Given the description of an element on the screen output the (x, y) to click on. 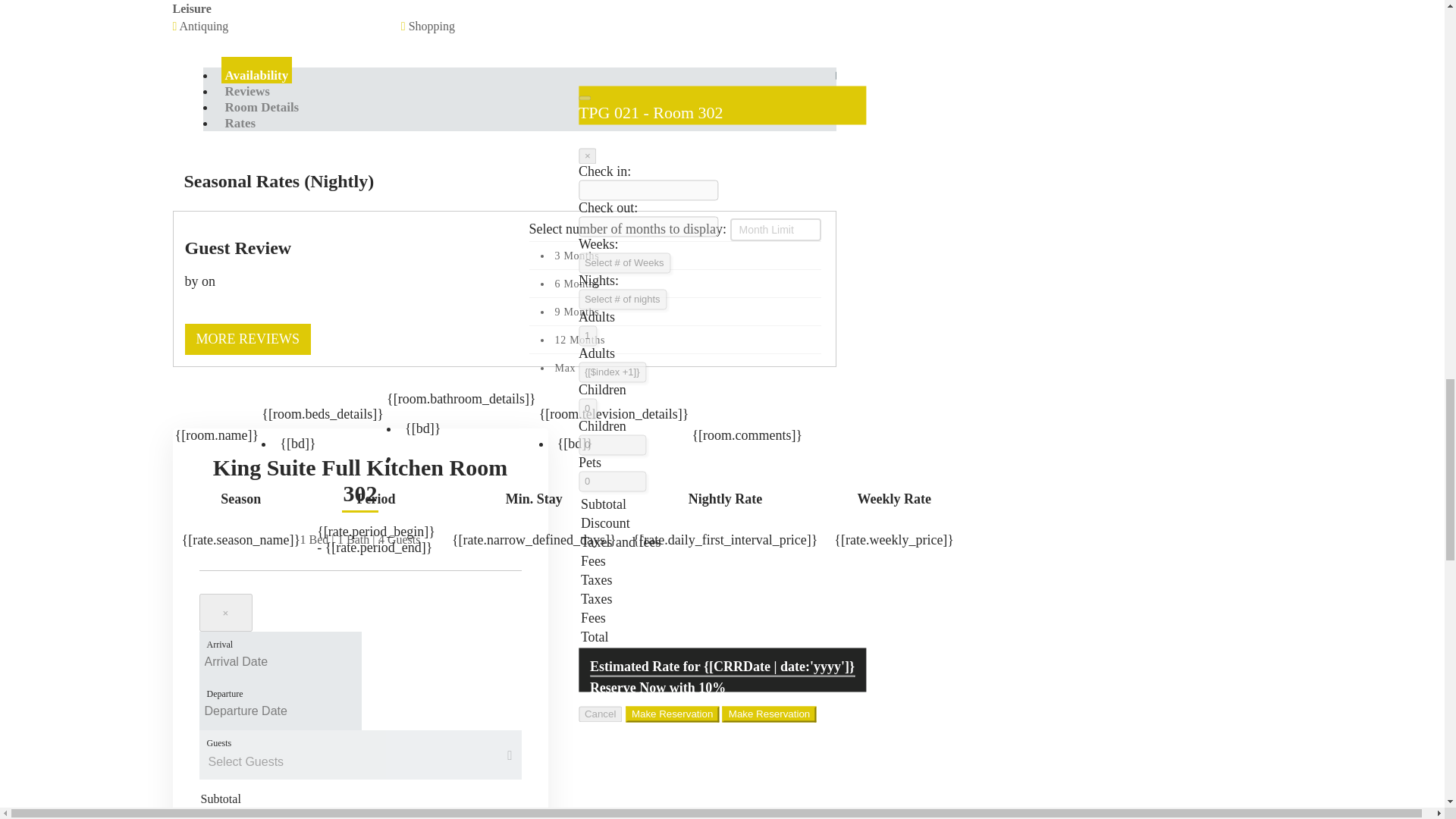
Month Limit (775, 229)
Availability (256, 75)
Rates (240, 122)
Reviews (247, 90)
Room Details (261, 107)
MORE REVIEWS (247, 338)
